Given the description of an element on the screen output the (x, y) to click on. 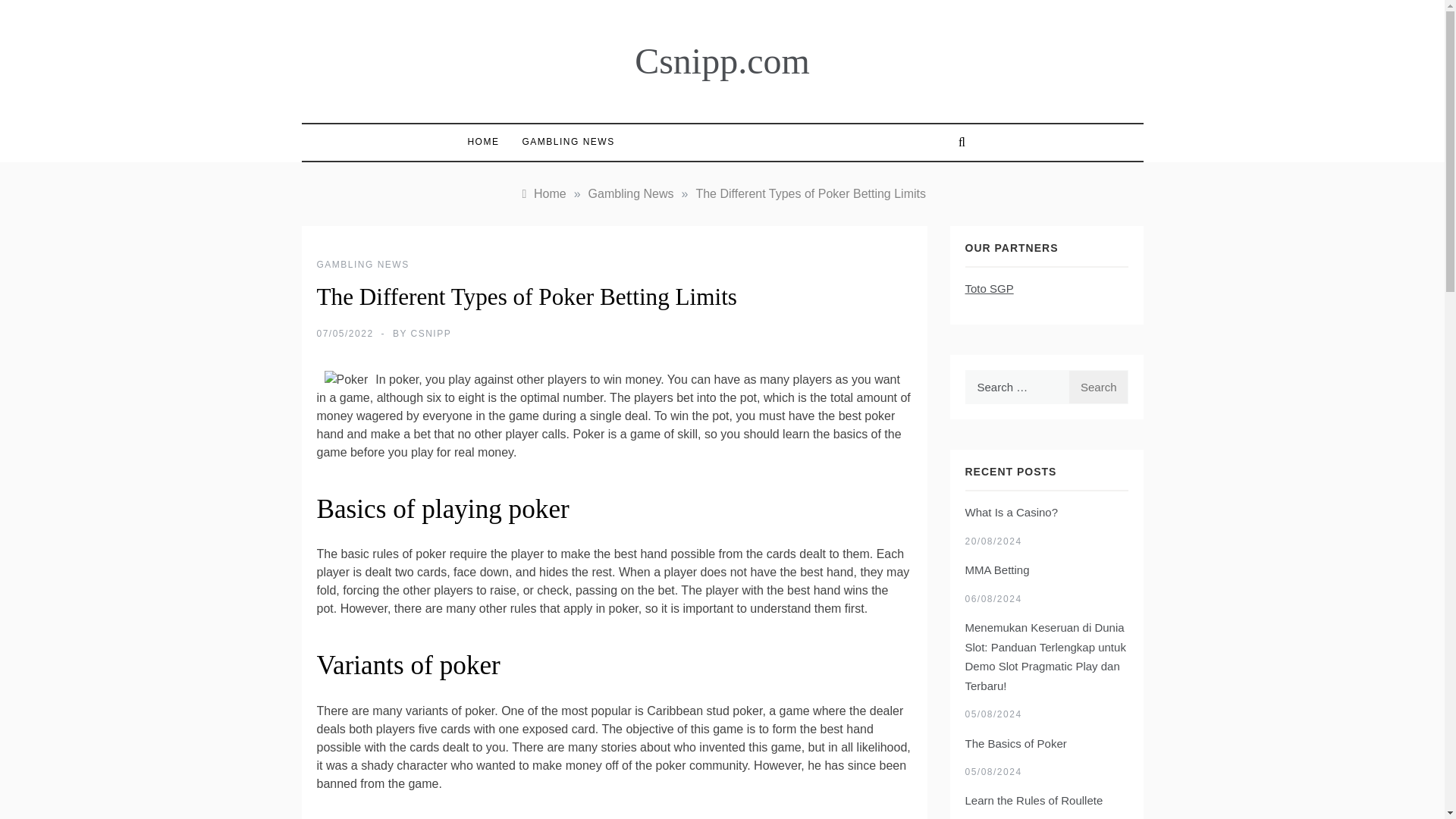
CSNIPP (430, 333)
MMA Betting (996, 569)
HOME (486, 141)
The Different Types of Poker Betting Limits (810, 193)
The Basics of Poker (1014, 743)
GAMBLING NEWS (363, 264)
Search (1098, 387)
Search (1098, 387)
Gambling News (631, 193)
